Given the description of an element on the screen output the (x, y) to click on. 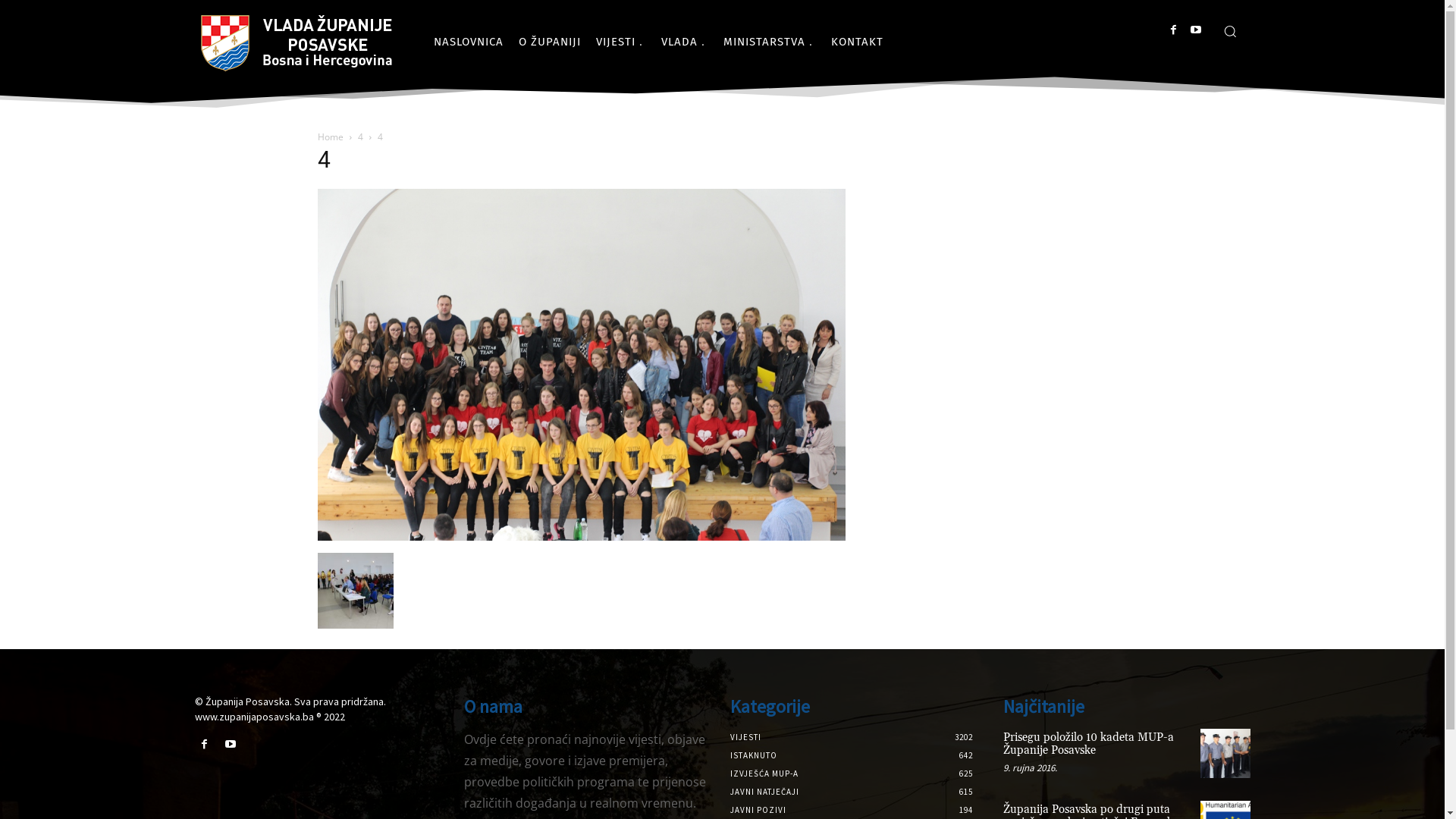
ISTAKNUTO
642 Element type: text (752, 754)
VLADA Element type: text (684, 41)
VIJESTI
3202 Element type: text (744, 736)
JAVNI POZIVI
194 Element type: text (757, 809)
KONTAKT Element type: text (857, 41)
NASLOVNICA Element type: text (468, 41)
4 Element type: text (360, 136)
Youtube Element type: hover (1196, 29)
Home Element type: text (329, 136)
Facebook Element type: hover (1173, 29)
VIJESTI Element type: text (620, 41)
Facebook Element type: hover (203, 744)
MINISTARSTVA Element type: text (769, 41)
Youtube Element type: hover (230, 744)
4 Element type: hover (580, 536)
